Given the description of an element on the screen output the (x, y) to click on. 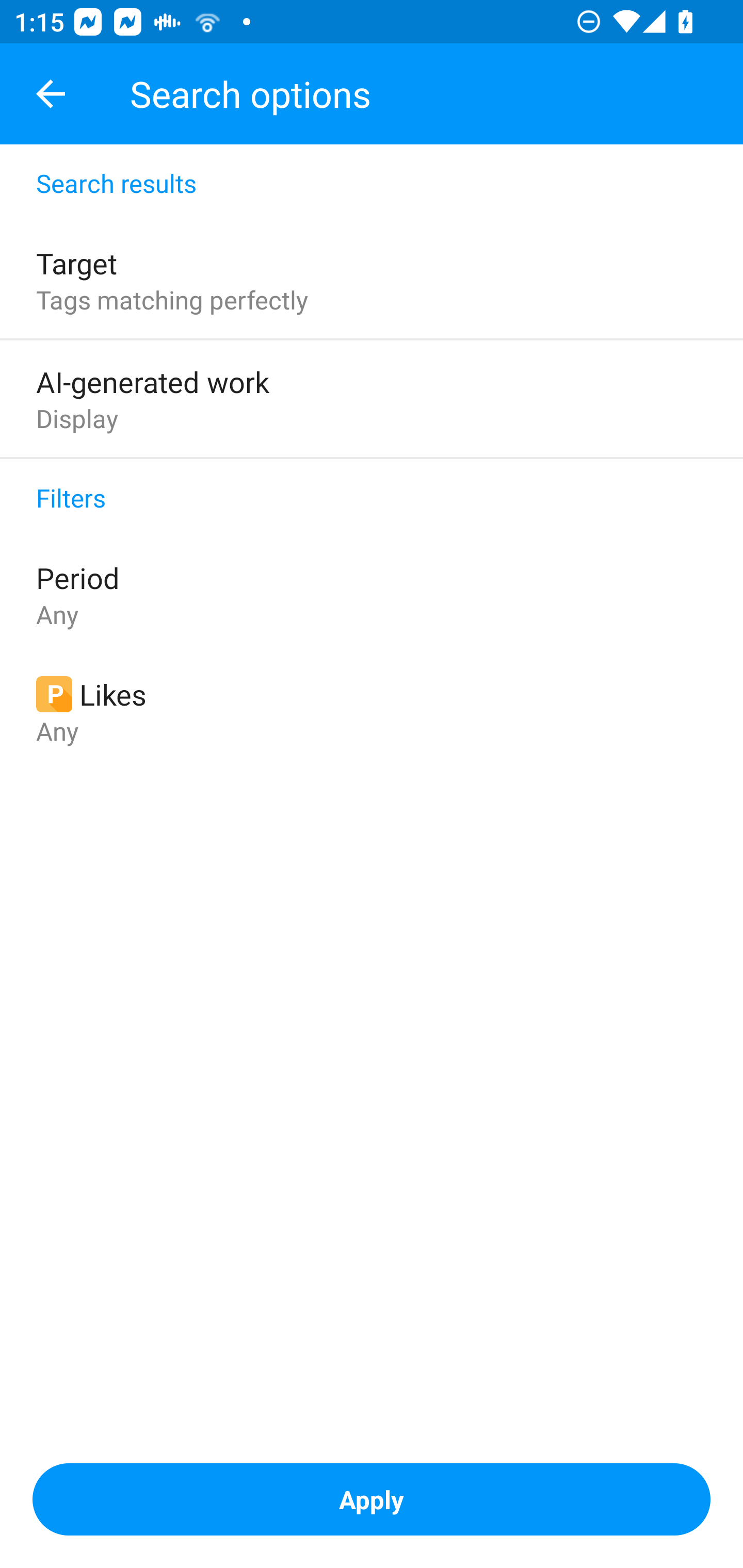
Navigate up (50, 93)
Target Tags matching perfectly (371, 279)
AI-generated work Display (371, 398)
Period Any (371, 594)
Likes Any (371, 710)
Apply (371, 1498)
